Given the description of an element on the screen output the (x, y) to click on. 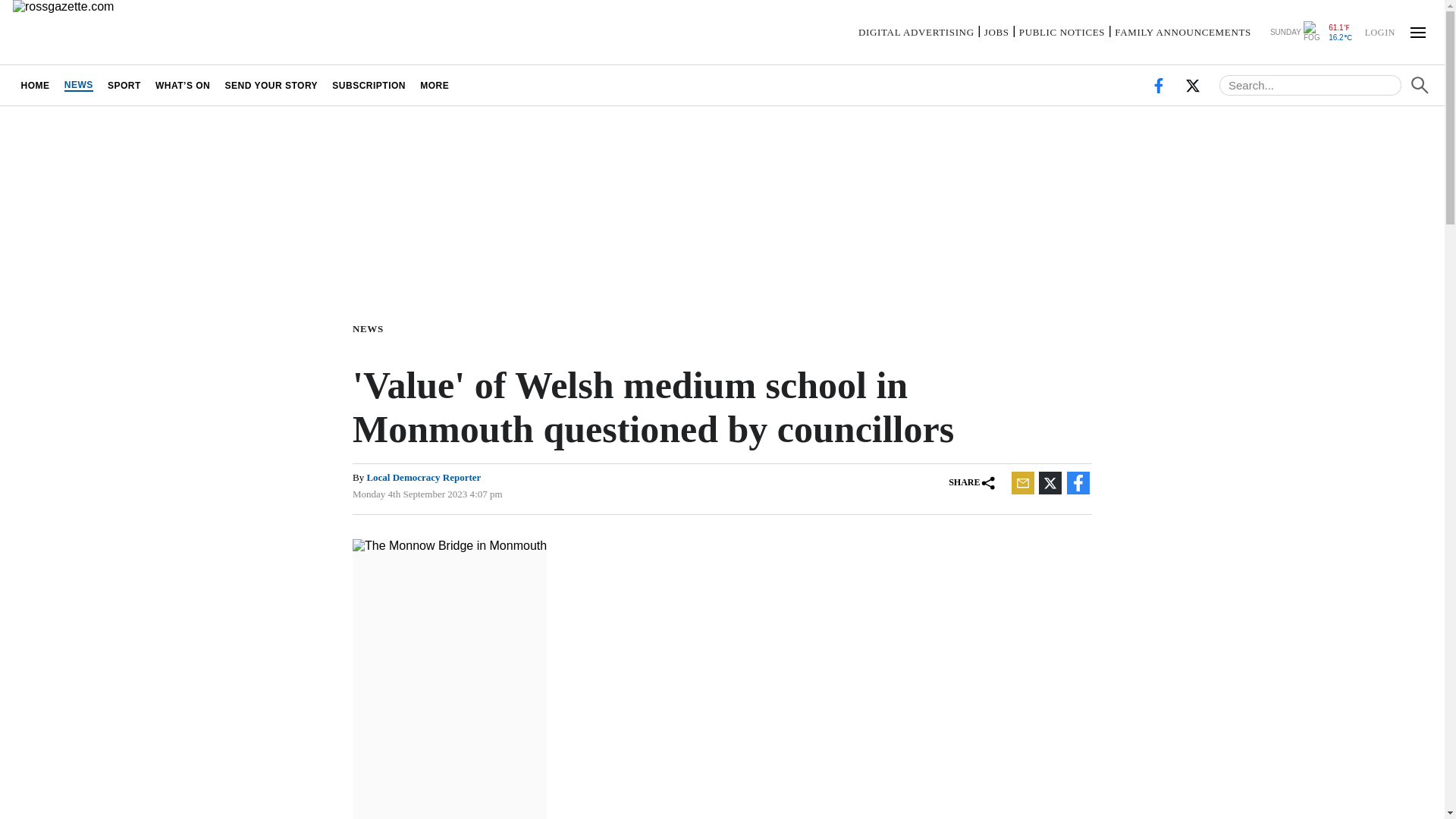
SEND YOUR STORY (270, 85)
MORE (435, 85)
NEWS (371, 328)
FAMILY ANNOUNCEMENTS (1182, 32)
HOME (34, 85)
SPORT (124, 85)
NEWS (78, 85)
Local Democracy Reporter (423, 477)
SUBSCRIPTION (368, 85)
LOGIN (1379, 31)
